Given the description of an element on the screen output the (x, y) to click on. 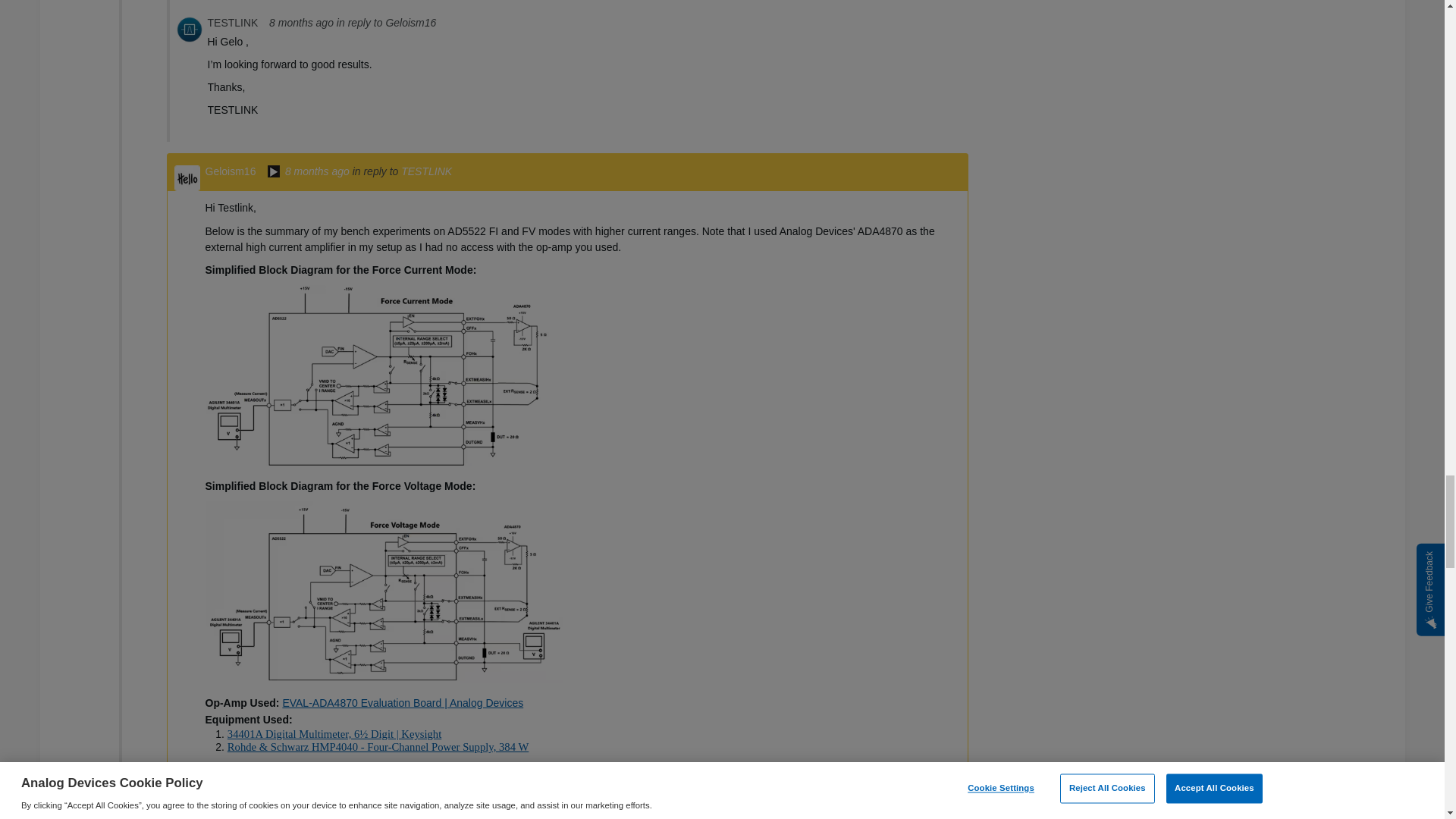
Analog Employees (273, 172)
